Given the description of an element on the screen output the (x, y) to click on. 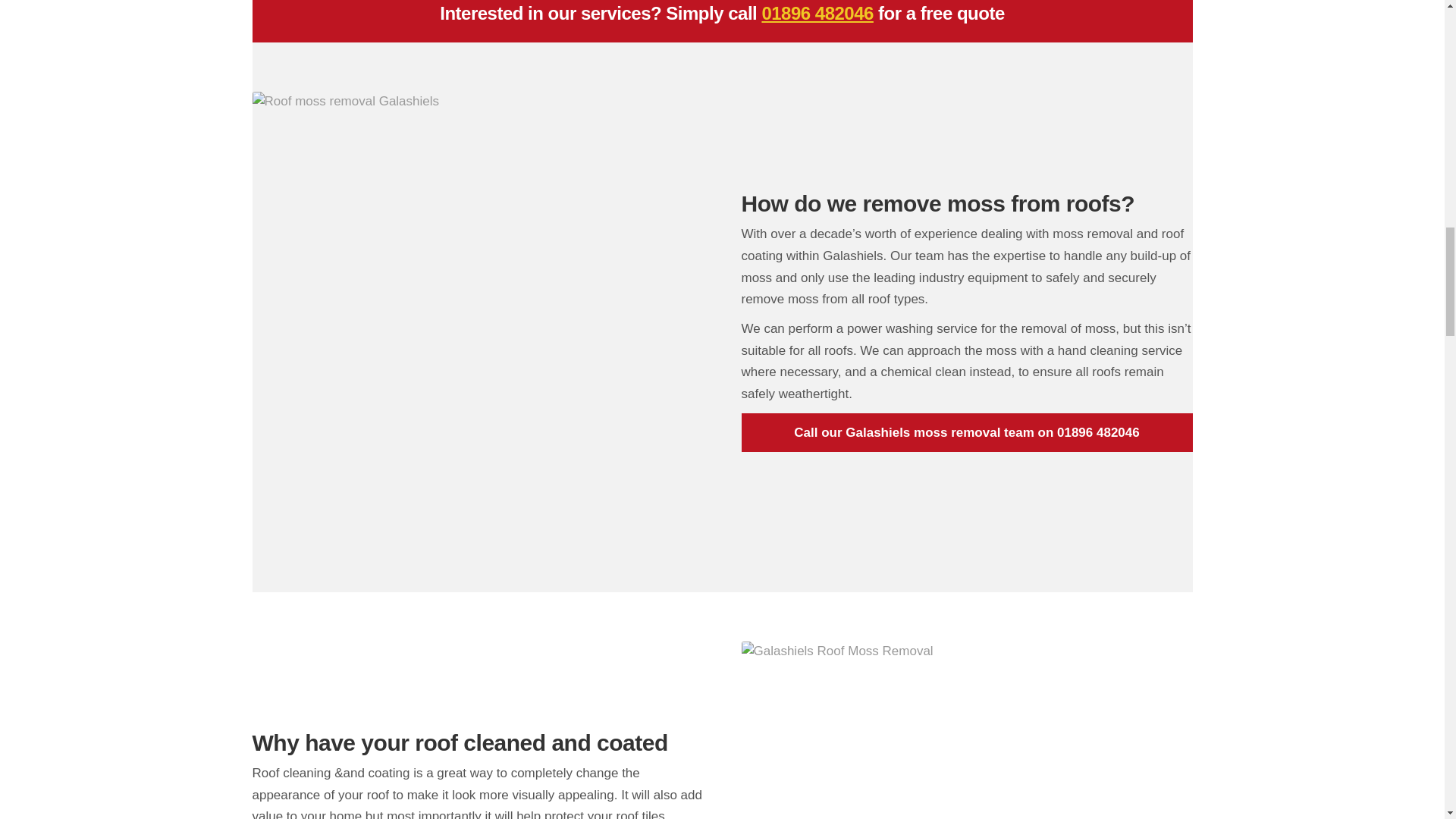
01896 482046 (817, 13)
Galashiels Roof Moss Removal (966, 730)
Call our Galashiels moss removal team on 01896 482046 (966, 432)
